Given the description of an element on the screen output the (x, y) to click on. 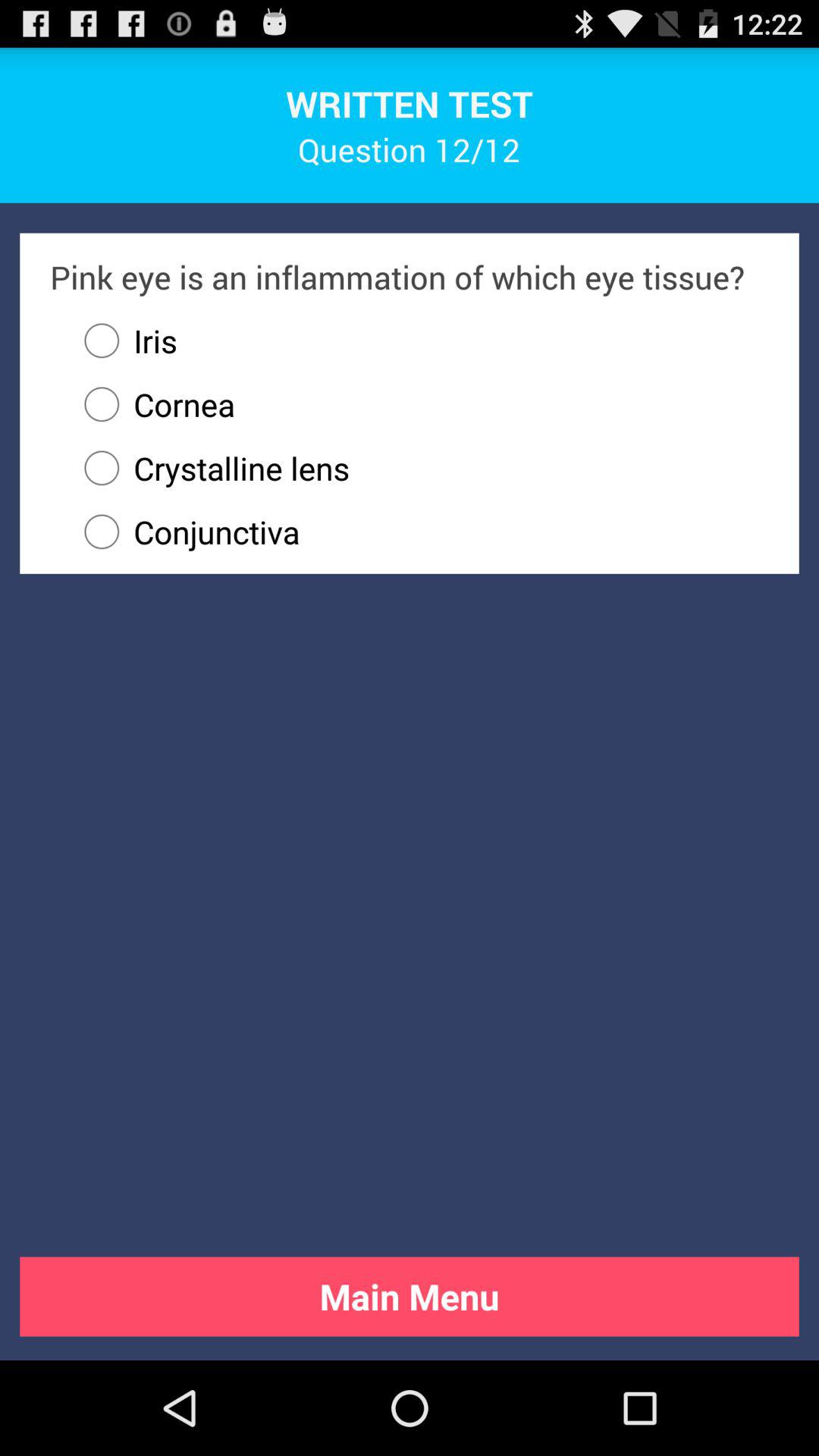
press app below pink eye is app (123, 340)
